Given the description of an element on the screen output the (x, y) to click on. 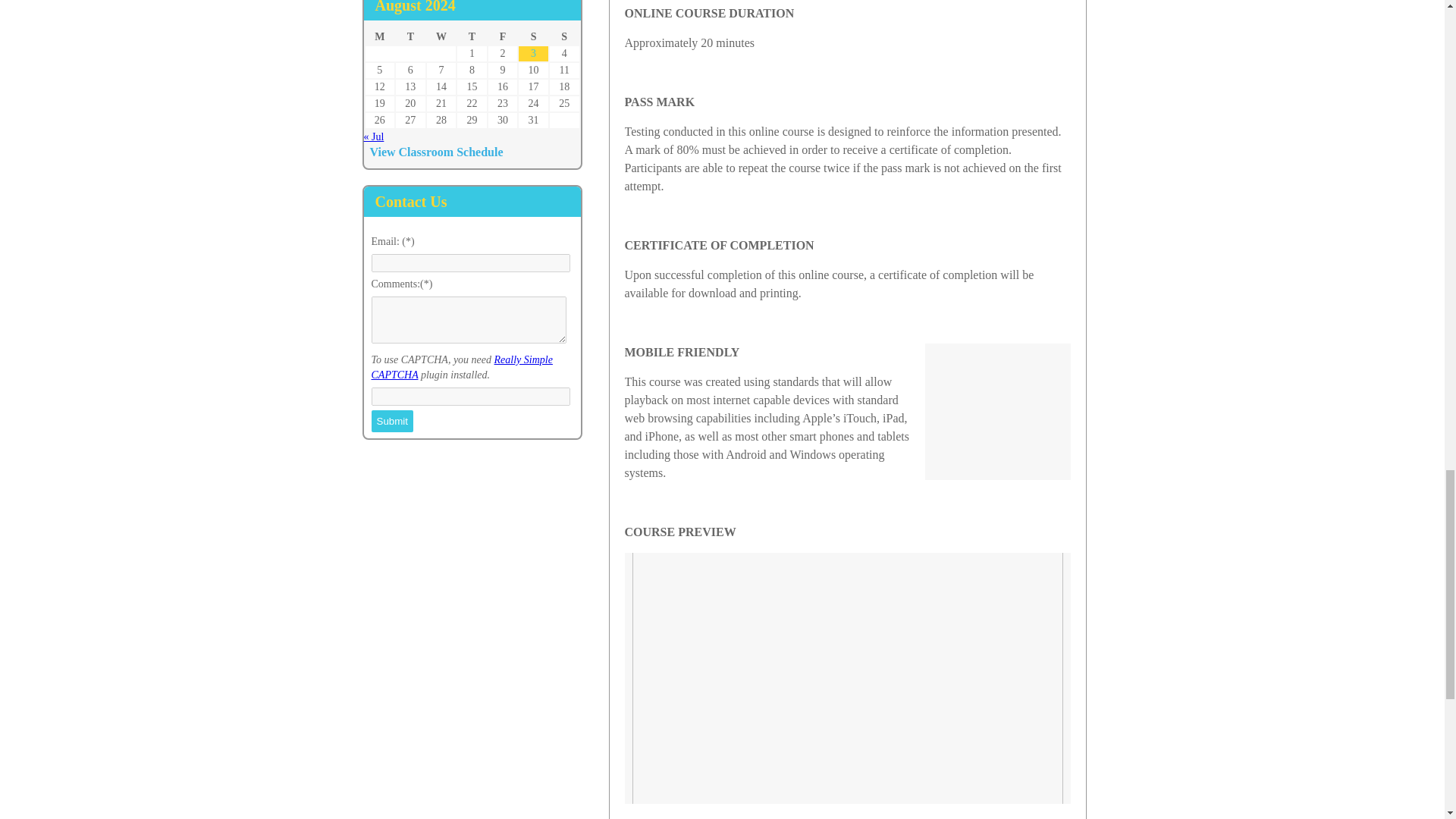
Submit (392, 421)
Sunday (564, 37)
Tuesday (410, 37)
Friday (502, 37)
Monday (379, 37)
Wednesday (441, 37)
Thursday (471, 37)
Saturday (533, 37)
